Given the description of an element on the screen output the (x, y) to click on. 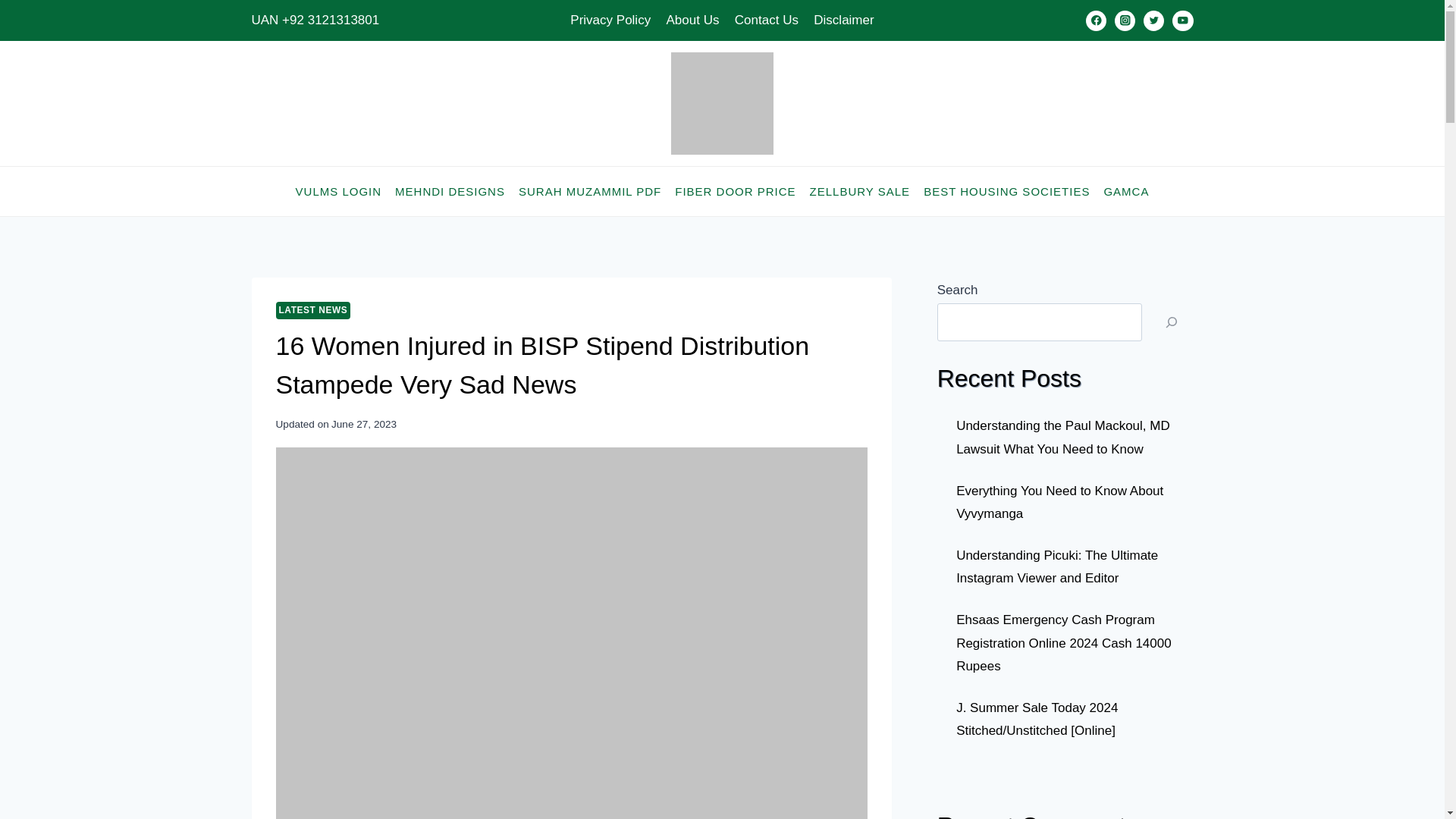
Contact Us (766, 20)
ZELLBURY SALE (860, 191)
FIBER DOOR PRICE (735, 191)
MEHNDI DESIGNS (450, 191)
VULMS LOGIN (338, 191)
BEST HOUSING SOCIETIES (1006, 191)
SURAH MUZAMMIL PDF (590, 191)
GAMCA (1126, 191)
About Us (692, 20)
LATEST NEWS (313, 310)
